Given the description of an element on the screen output the (x, y) to click on. 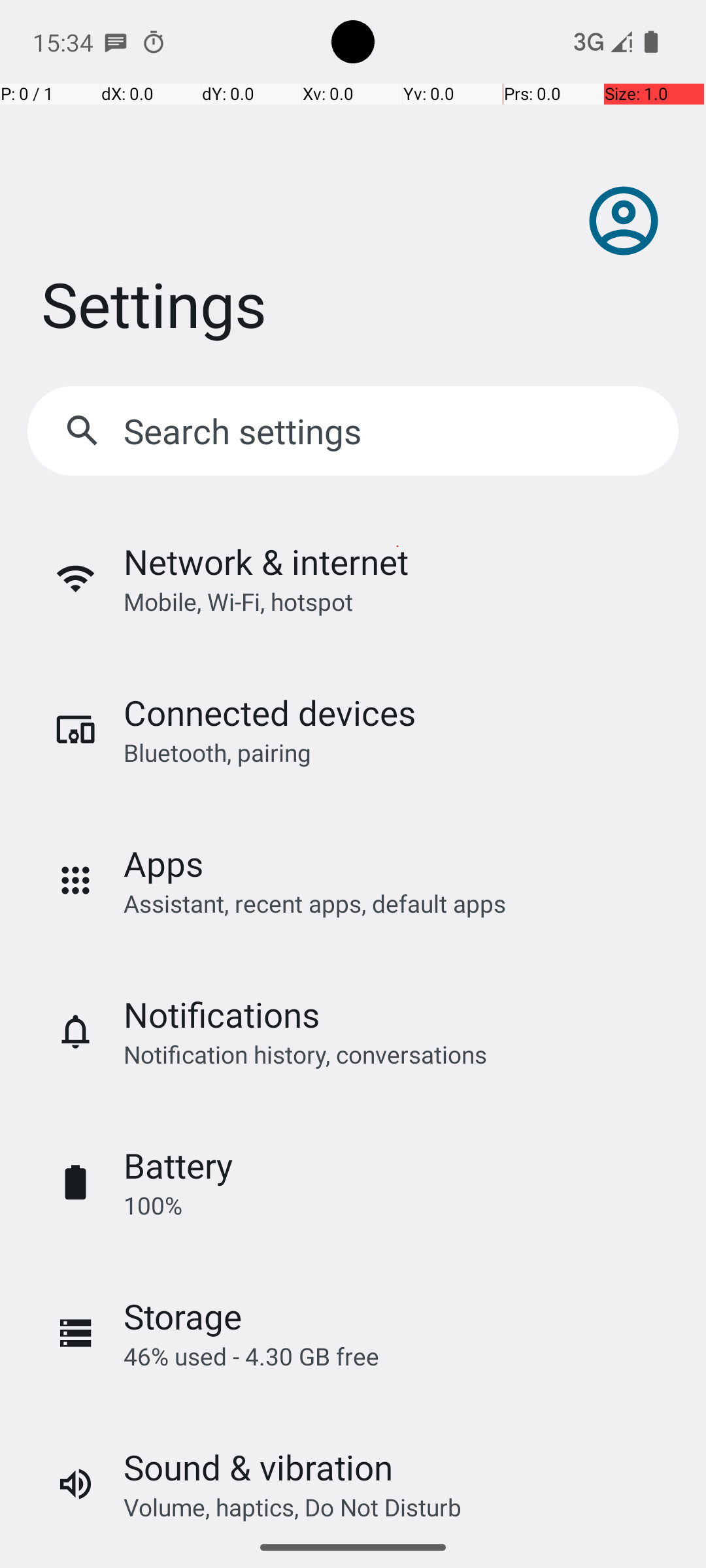
46% used - 4.30 GB free Element type: android.widget.TextView (251, 1355)
